Given the description of an element on the screen output the (x, y) to click on. 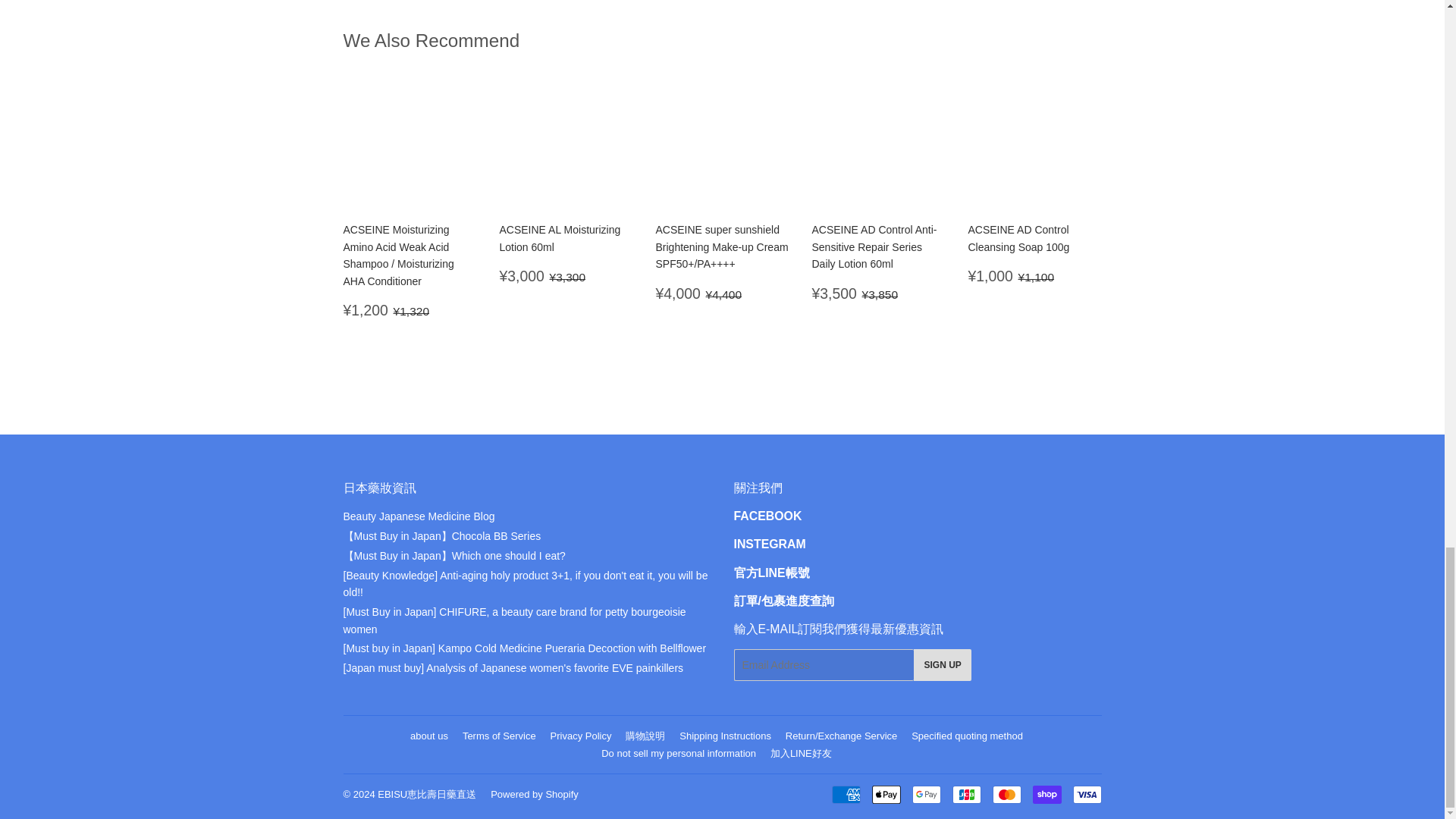
American Express (845, 794)
Visa (1085, 794)
Apple Pay (886, 794)
Google Pay (925, 794)
Shop Pay (1046, 794)
Mastercard (1005, 794)
JCB (966, 794)
